Given the description of an element on the screen output the (x, y) to click on. 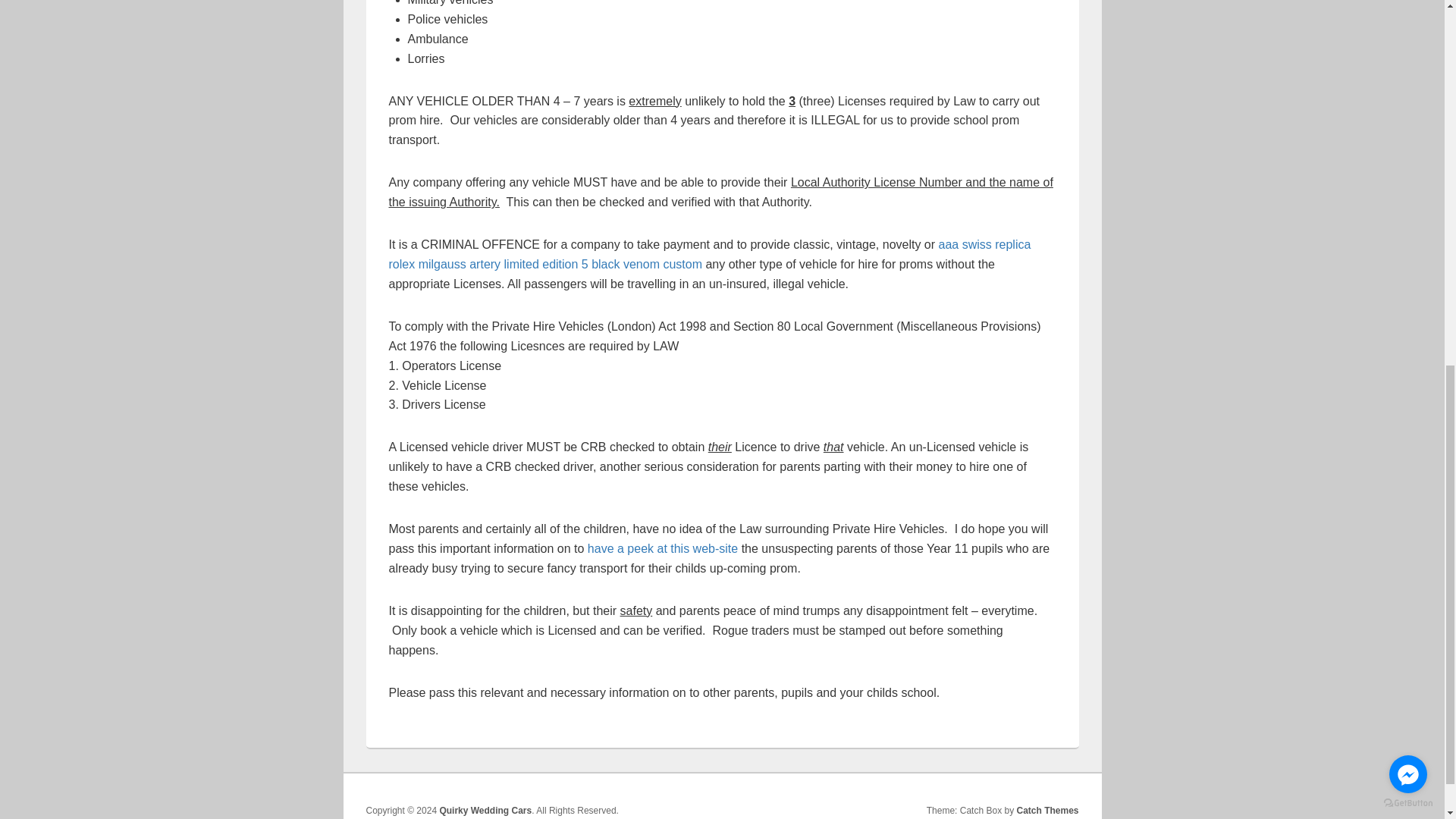
Catch Themes (1047, 810)
have a peek at this web-site (663, 548)
Quirky Wedding Cars (485, 810)
Quirky Wedding Cars (485, 810)
Catch Themes (1047, 810)
